Given the description of an element on the screen output the (x, y) to click on. 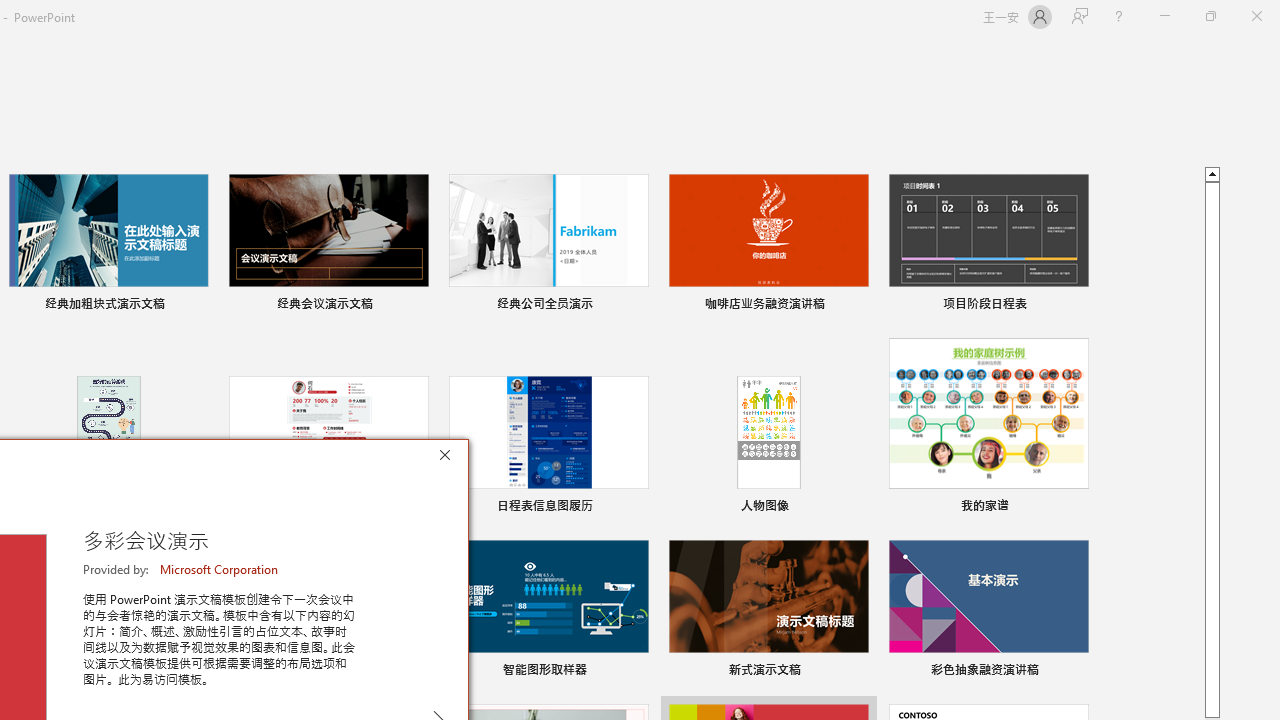
Line up (1212, 173)
Pin to list (1075, 671)
Restore Down (1210, 16)
Microsoft Corporation (220, 569)
